Given the description of an element on the screen output the (x, y) to click on. 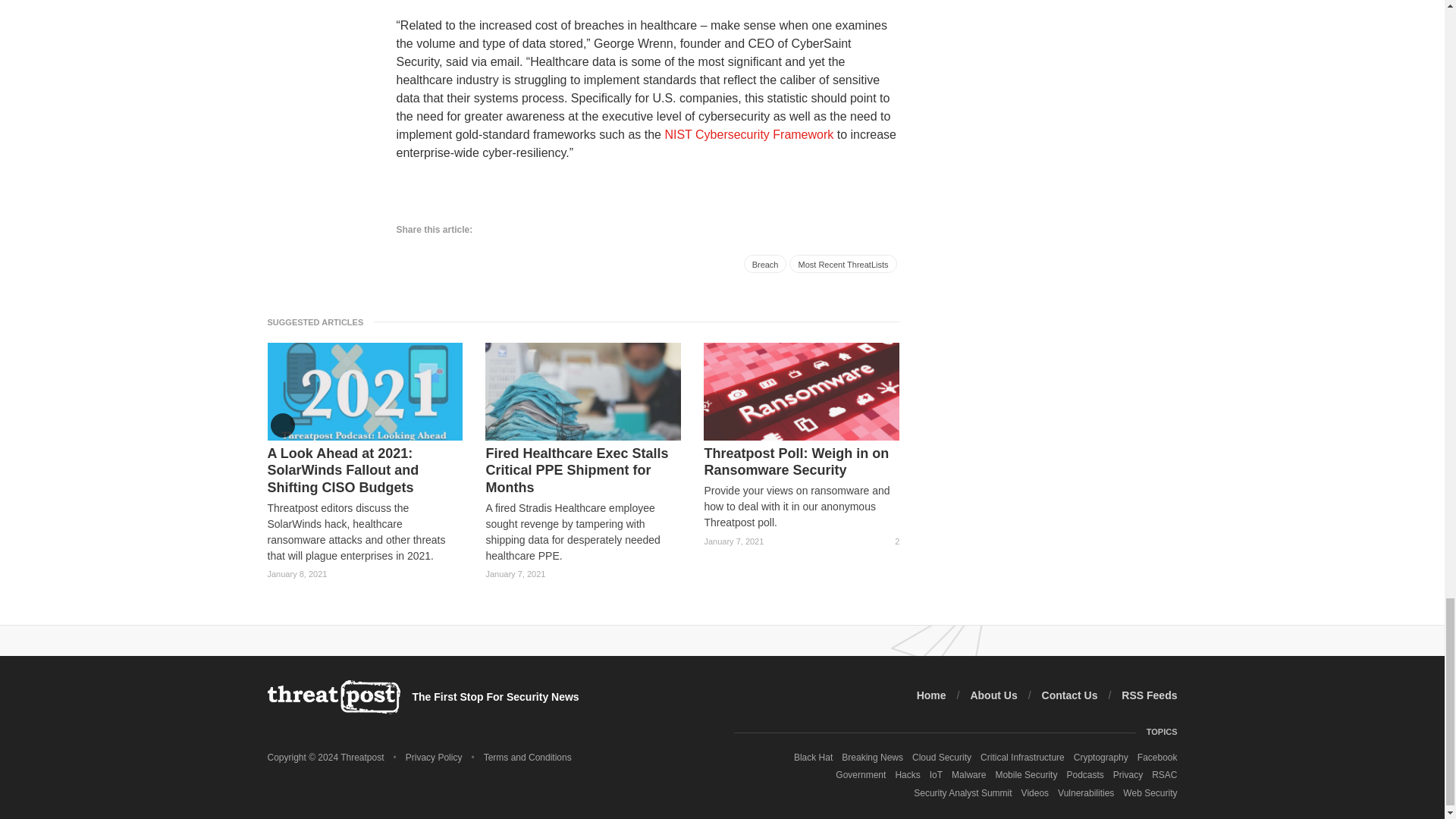
NIST Cybersecurity Framework (747, 133)
2 (889, 541)
Most Recent ThreatLists (842, 263)
Breach (765, 263)
Threatpost Poll: Weigh in on Ransomware Security (801, 462)
SUGGESTED ARTICLES (319, 321)
